Given the description of an element on the screen output the (x, y) to click on. 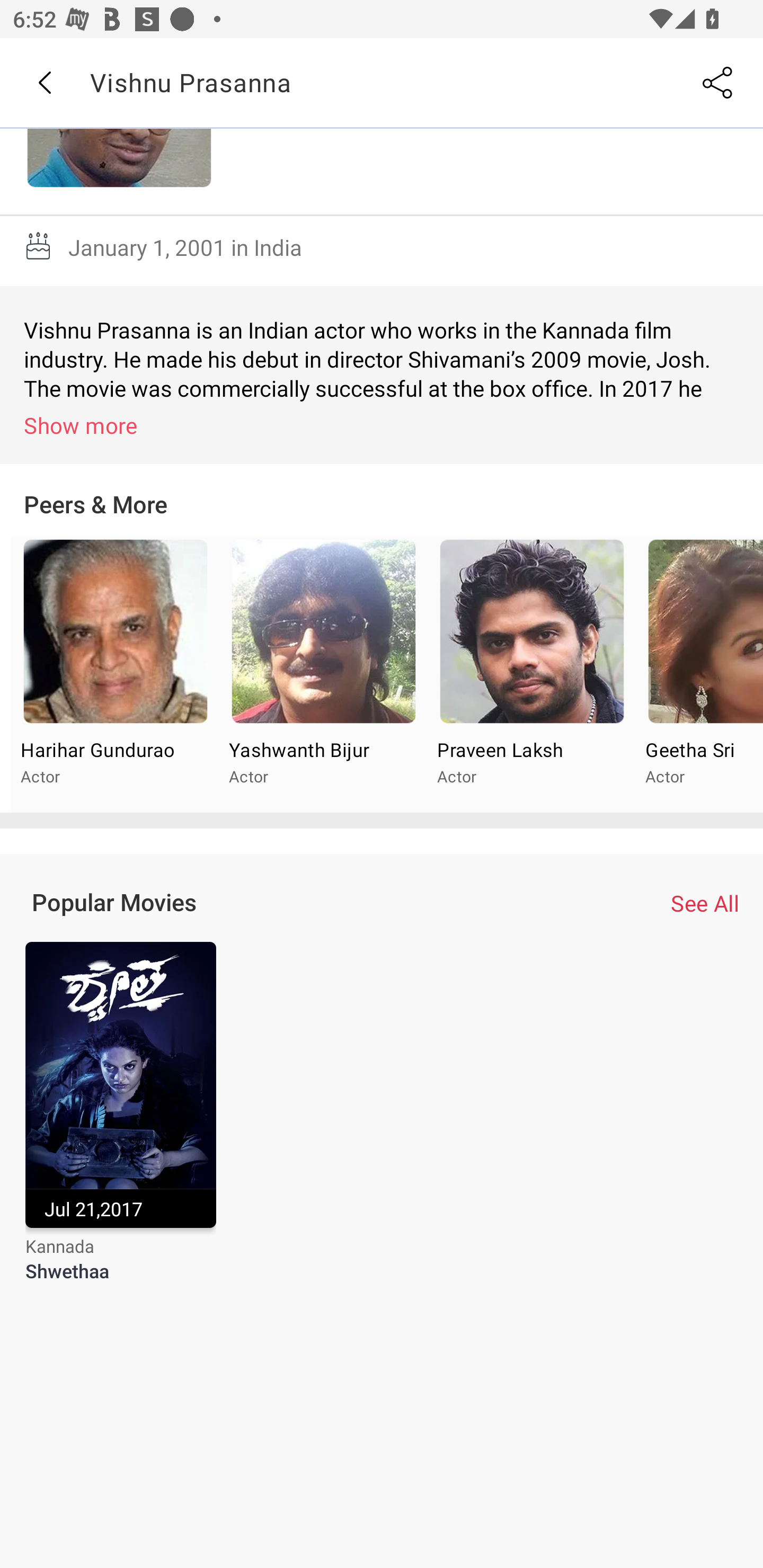
Back (44, 82)
Show more (384, 424)
Harihar Gundurao Dattatreya Actor (115, 674)
Yashwanth Bijur Actor (323, 674)
Praveen Laksh Actor (531, 674)
Geetha Sri Actor (699, 674)
See All (704, 902)
Jul 21,2017 Kannada Shwethaa (120, 1124)
